Given the description of an element on the screen output the (x, y) to click on. 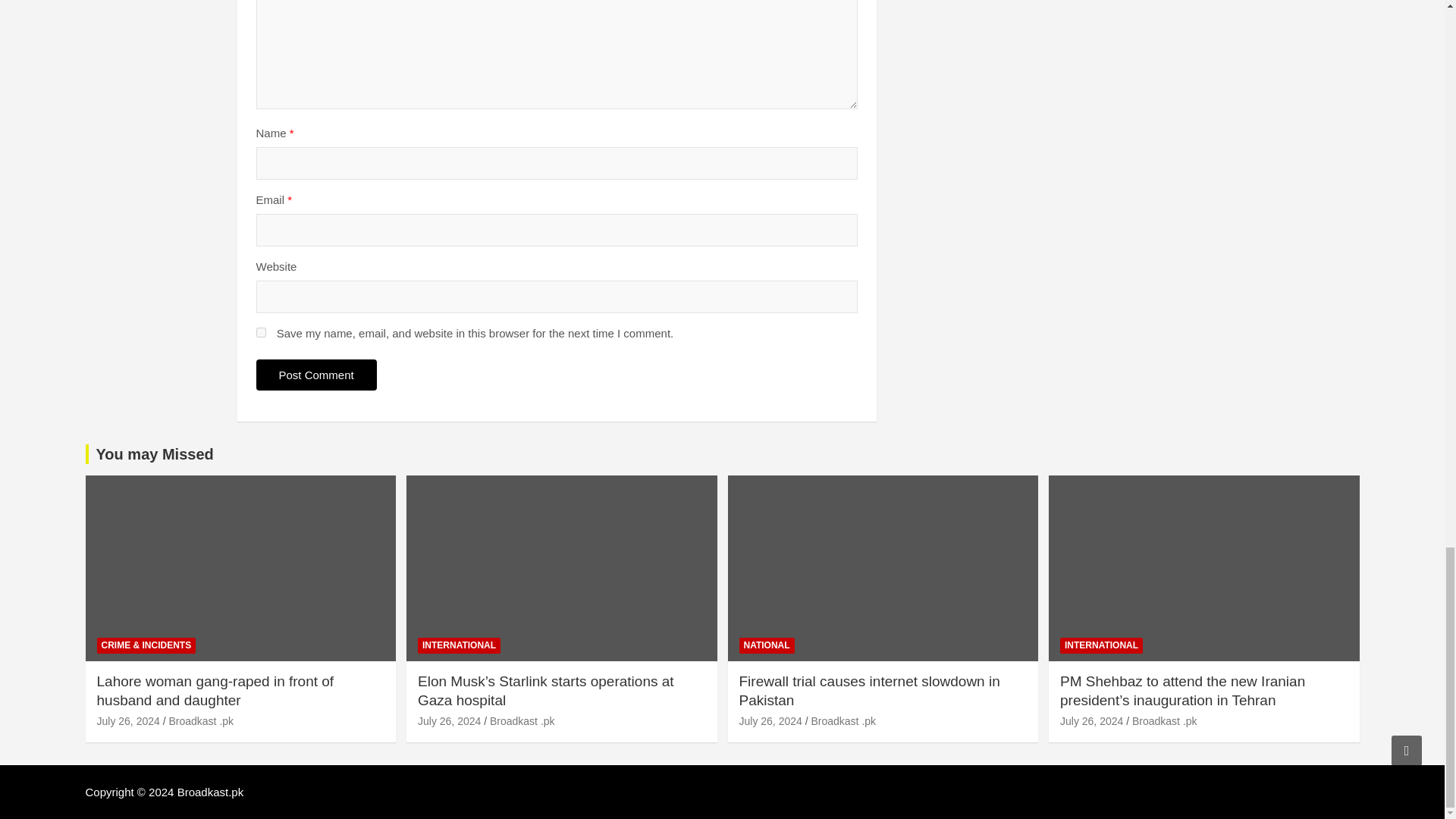
Broadkast.pk (210, 791)
Lahore woman gang-raped in front of husband and daughter (128, 720)
Post Comment (316, 374)
yes (261, 332)
Post Comment (316, 374)
Firewall trial causes internet slowdown in Pakistan (770, 720)
